Given the description of an element on the screen output the (x, y) to click on. 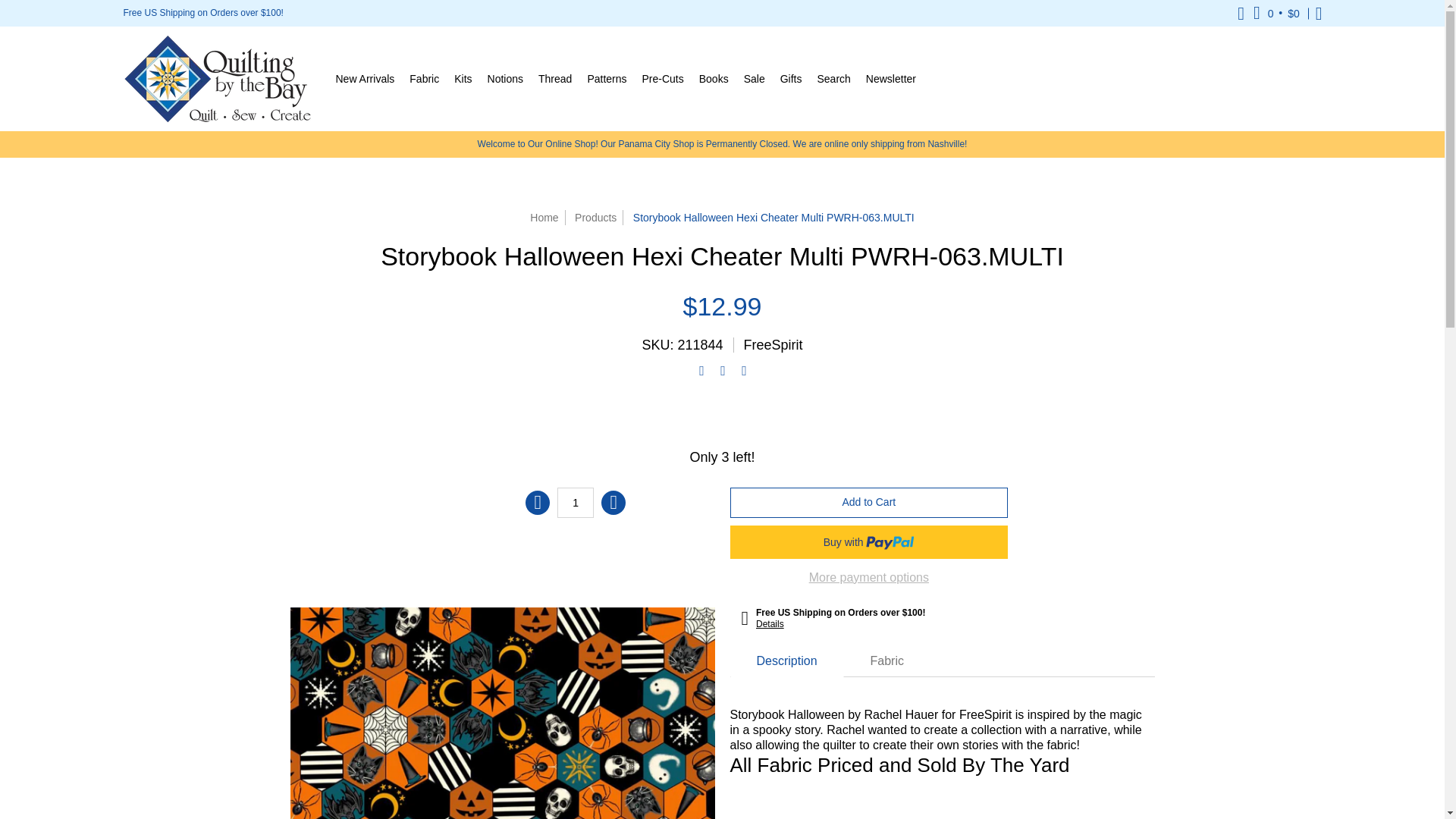
Cart (1276, 13)
Add to Cart (868, 501)
Quilting by the Bay (217, 78)
1 (575, 501)
